Given the description of an element on the screen output the (x, y) to click on. 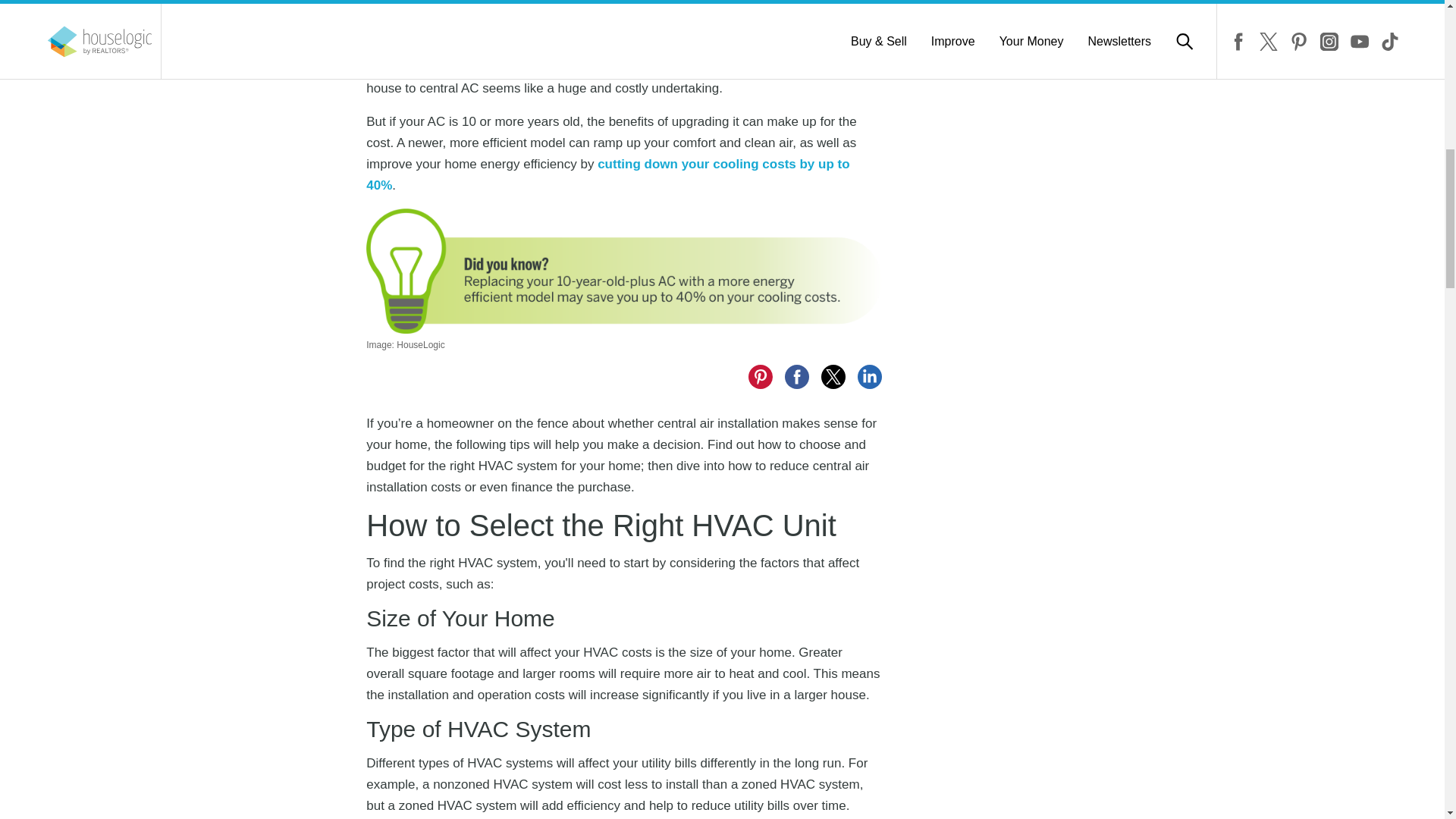
Share on Facebook (373, 5)
Share via Email (518, 5)
Share on Pinterest (409, 5)
Share on Facebook (796, 376)
Share on Pinterest (760, 376)
Print Article (555, 5)
Share on Twitter (833, 376)
Share on LinkedIn (482, 5)
Share on Twitter (445, 5)
Share on LinkedIn (869, 376)
